Given the description of an element on the screen output the (x, y) to click on. 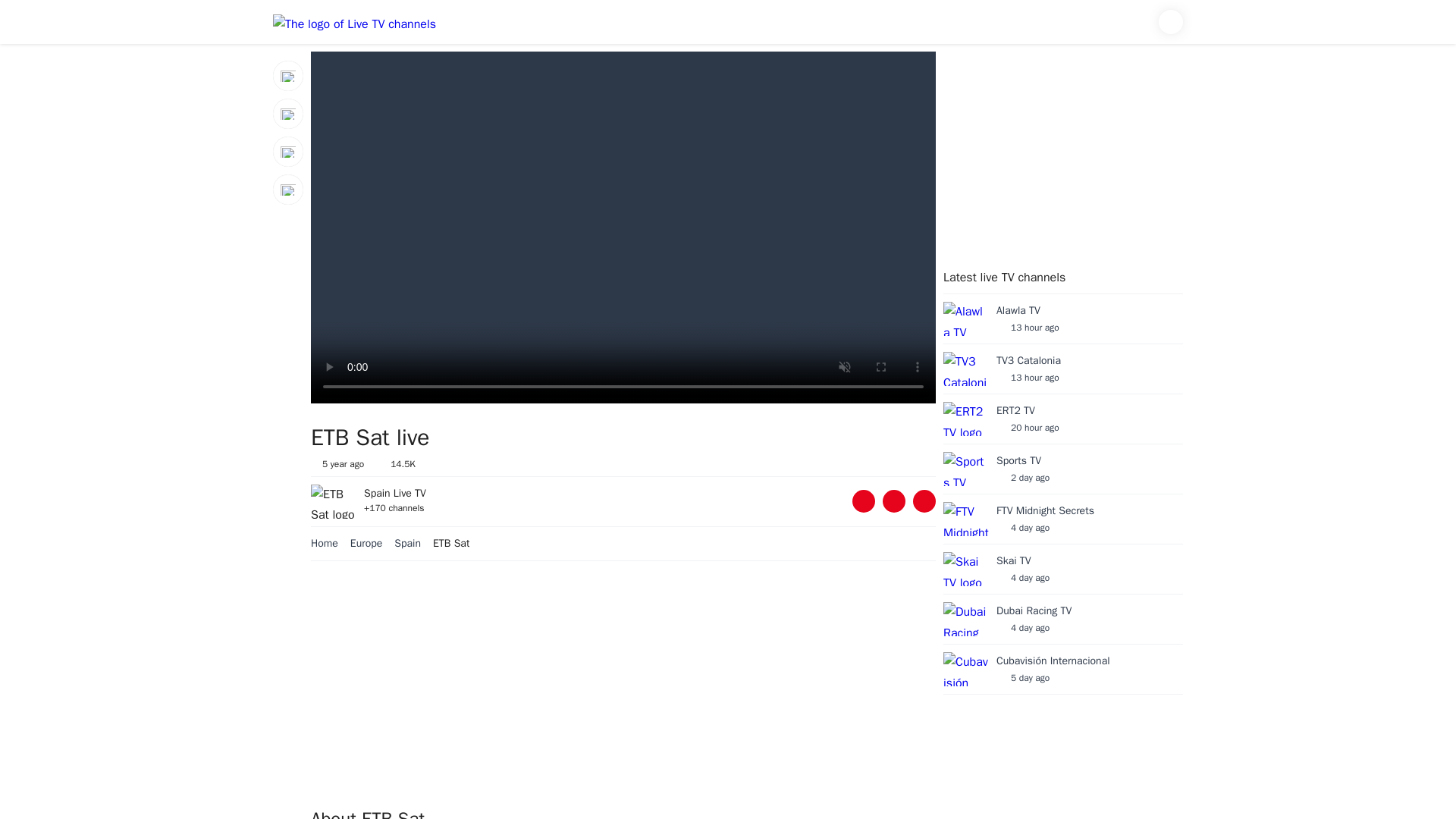
Home (330, 543)
Latest live TV channels (287, 113)
Resource Links (924, 500)
Report Broken (893, 500)
Live TV channels: Live and Replay TV (354, 21)
Live TV channels: Live and Replay TV (1062, 372)
Home (354, 25)
Top live TV channels (287, 75)
Home (287, 151)
ETB Sat Live stream (1062, 473)
Spain (1062, 423)
Share (330, 543)
